Given the description of an element on the screen output the (x, y) to click on. 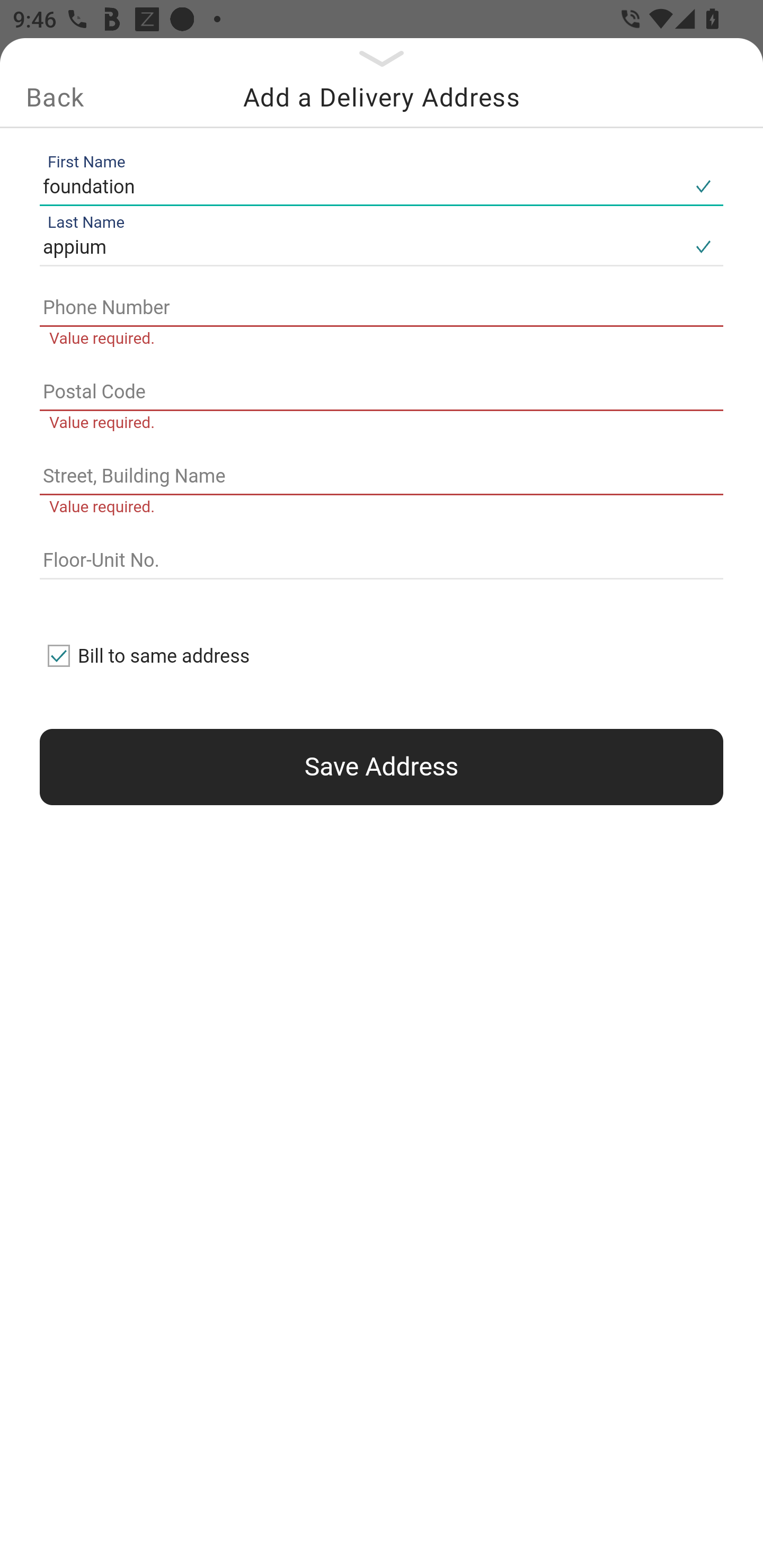
Back (54, 96)
Add a Delivery Address (381, 96)
foundation (361, 186)
appium (361, 247)
Save Address (381, 767)
